Given the description of an element on the screen output the (x, y) to click on. 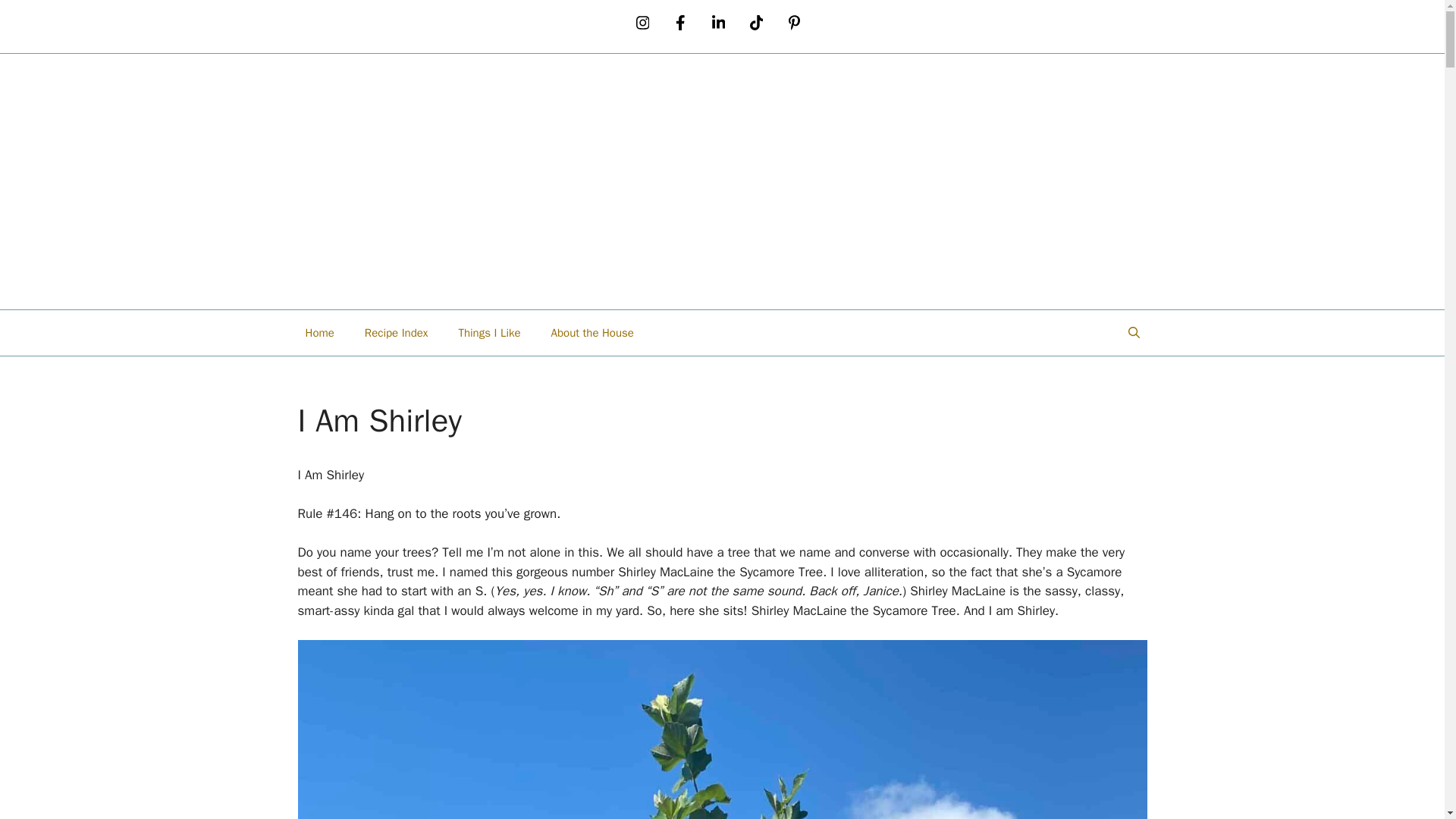
Things I Like (488, 332)
Home (319, 332)
About the House (592, 332)
Recipe Index (396, 332)
